Given the description of an element on the screen output the (x, y) to click on. 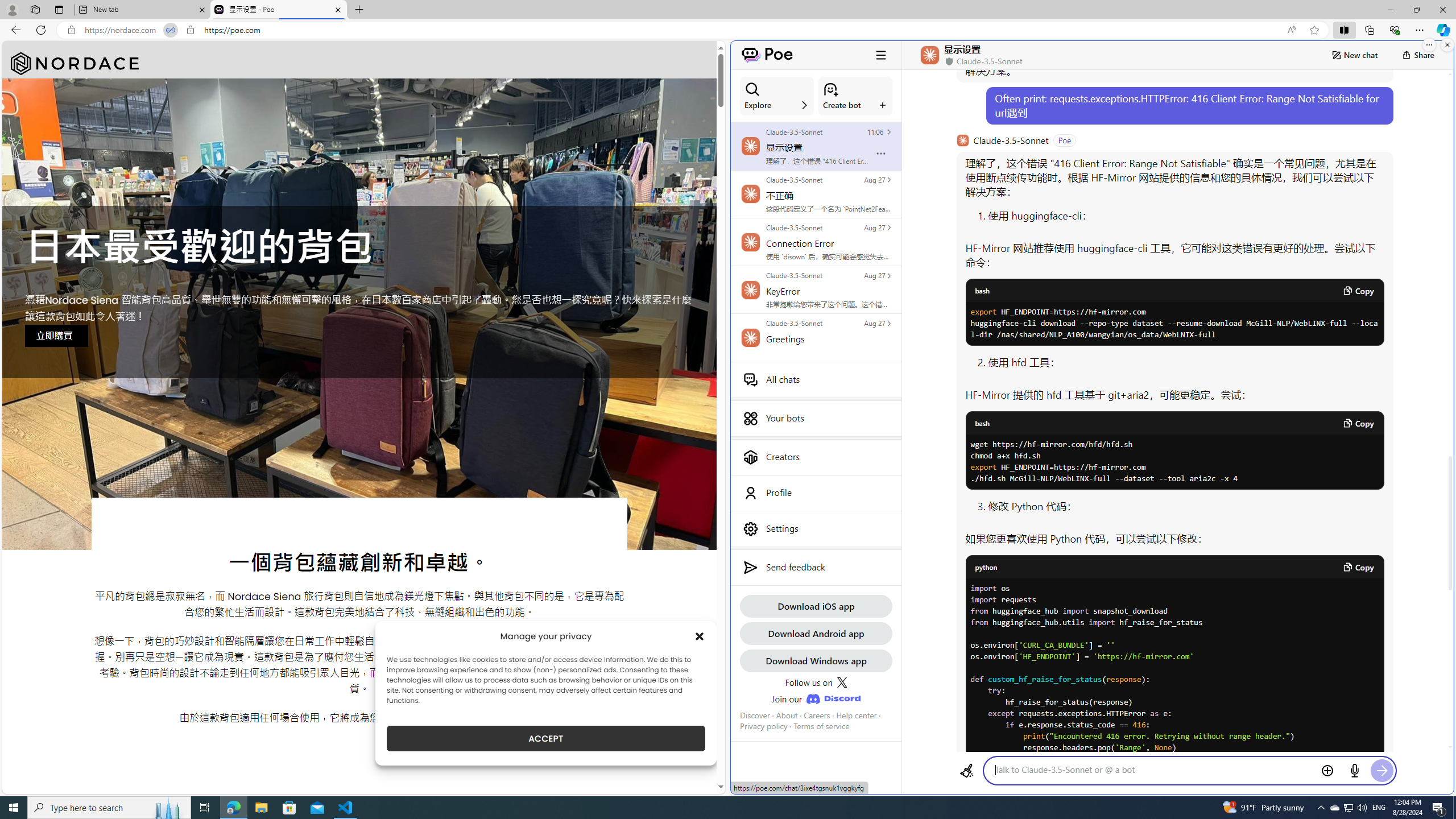
New chat (1353, 54)
Close split screen. (1447, 45)
About (786, 714)
Browser essentials (1394, 29)
Poe (766, 55)
Poe (766, 55)
View site information (190, 29)
Minimize (1390, 9)
Explore (776, 95)
Your bots (815, 418)
Address and search bar (680, 29)
Join our (815, 698)
Tabs in split screen (170, 29)
Copilot (Ctrl+Shift+.) (1442, 29)
